Given the description of an element on the screen output the (x, y) to click on. 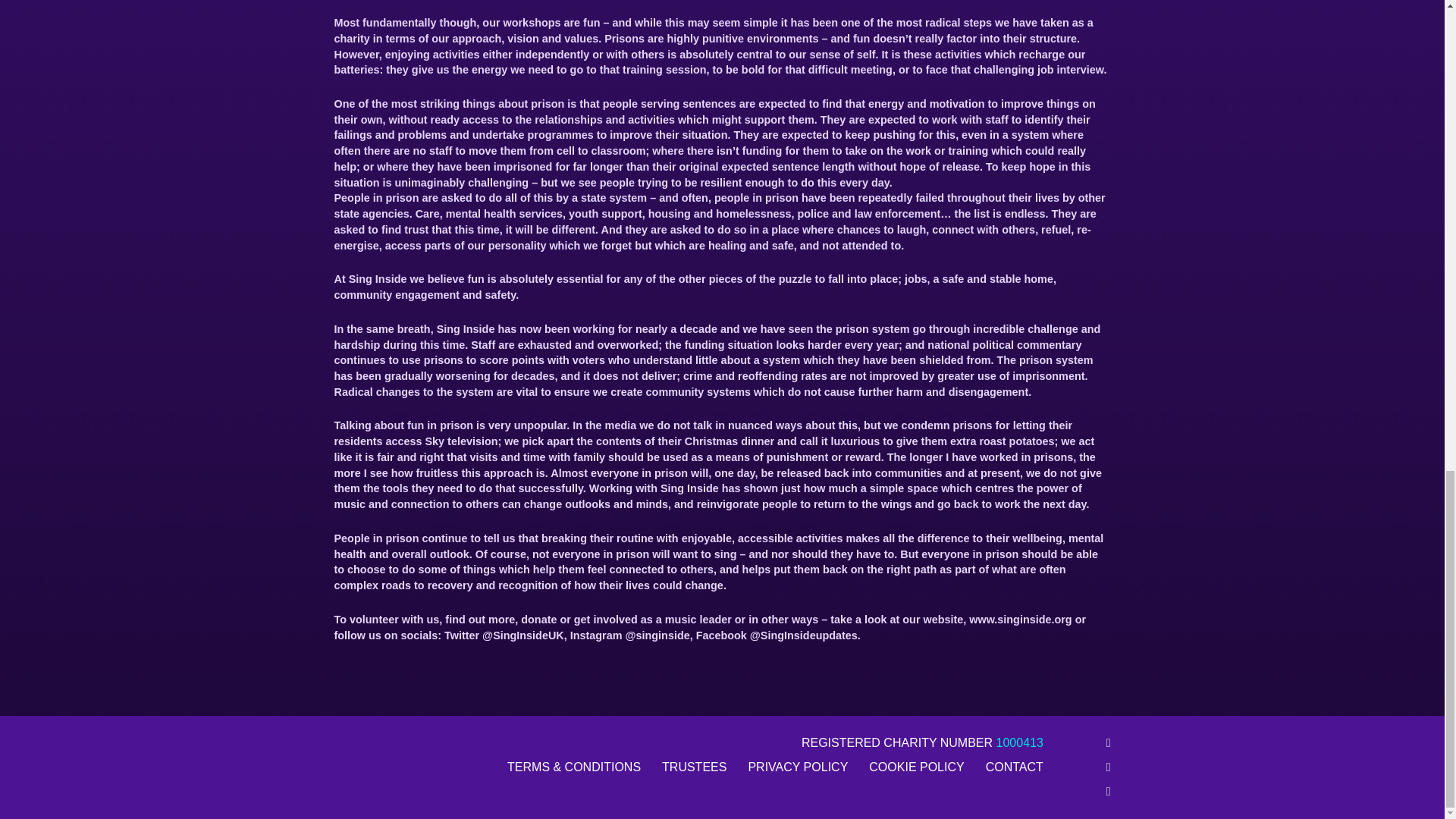
COOKIE POLICY (916, 766)
TRUSTEES (694, 766)
1000413 (1019, 742)
Trustees (694, 766)
PRIVACY POLICY (797, 766)
CONTACT (1014, 766)
Cookie policy (916, 766)
Contact (1014, 766)
Privacy policy (797, 766)
